Given the description of an element on the screen output the (x, y) to click on. 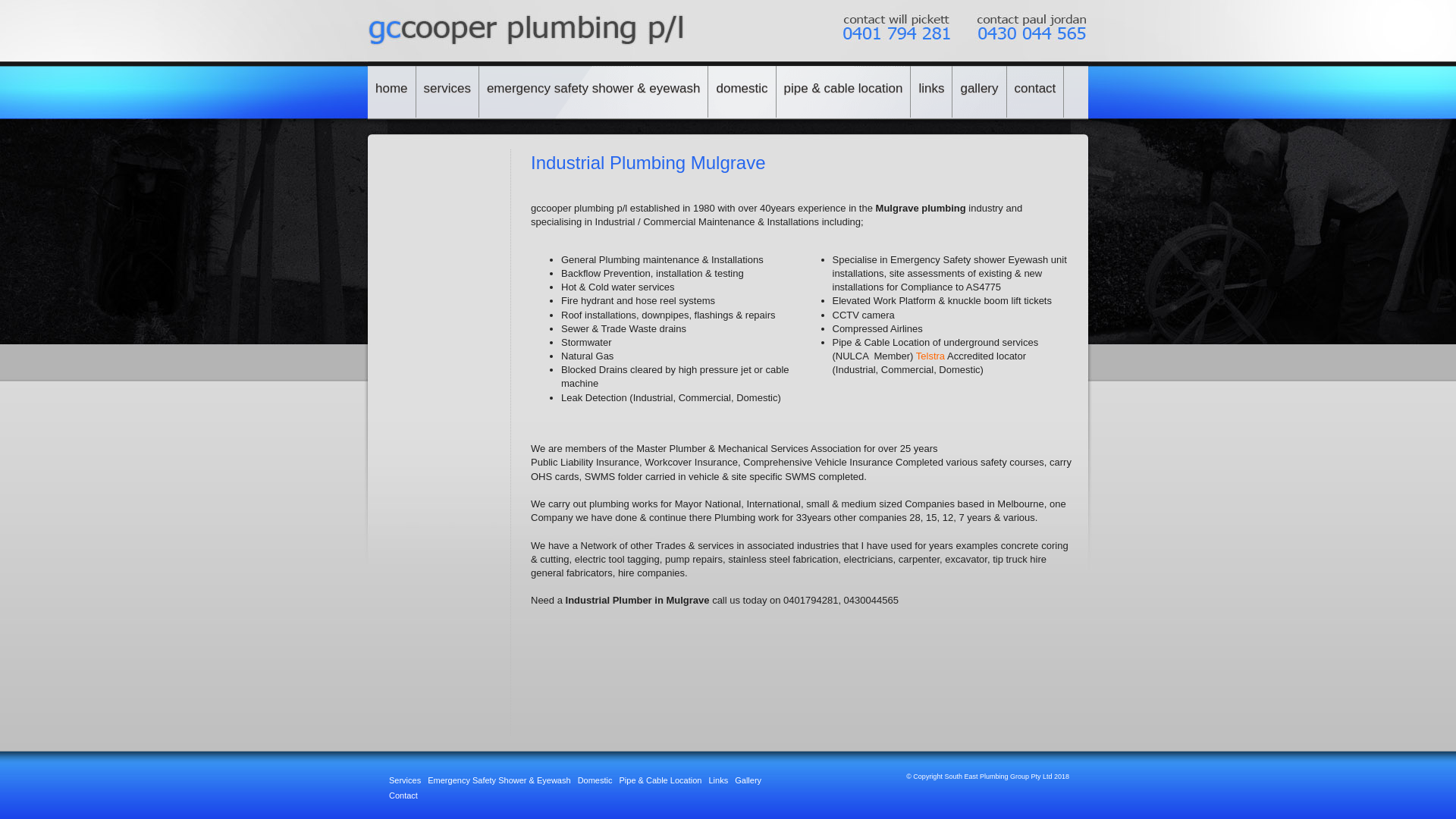
Pipe & Cable Location Element type: text (660, 780)
gallery Element type: text (979, 91)
home Element type: text (391, 91)
Contact Element type: text (403, 795)
Domestic Element type: text (595, 780)
domestic Element type: text (741, 91)
services Element type: text (447, 91)
emergency safety shower & eyewash Element type: text (594, 91)
Links Element type: text (718, 780)
Gallery Element type: text (747, 780)
Services Element type: text (404, 780)
links Element type: text (931, 91)
pipe & cable location Element type: text (843, 91)
Emergency Safety Shower & Eyewash Element type: text (498, 780)
contact Element type: text (1035, 91)
